Given the description of an element on the screen output the (x, y) to click on. 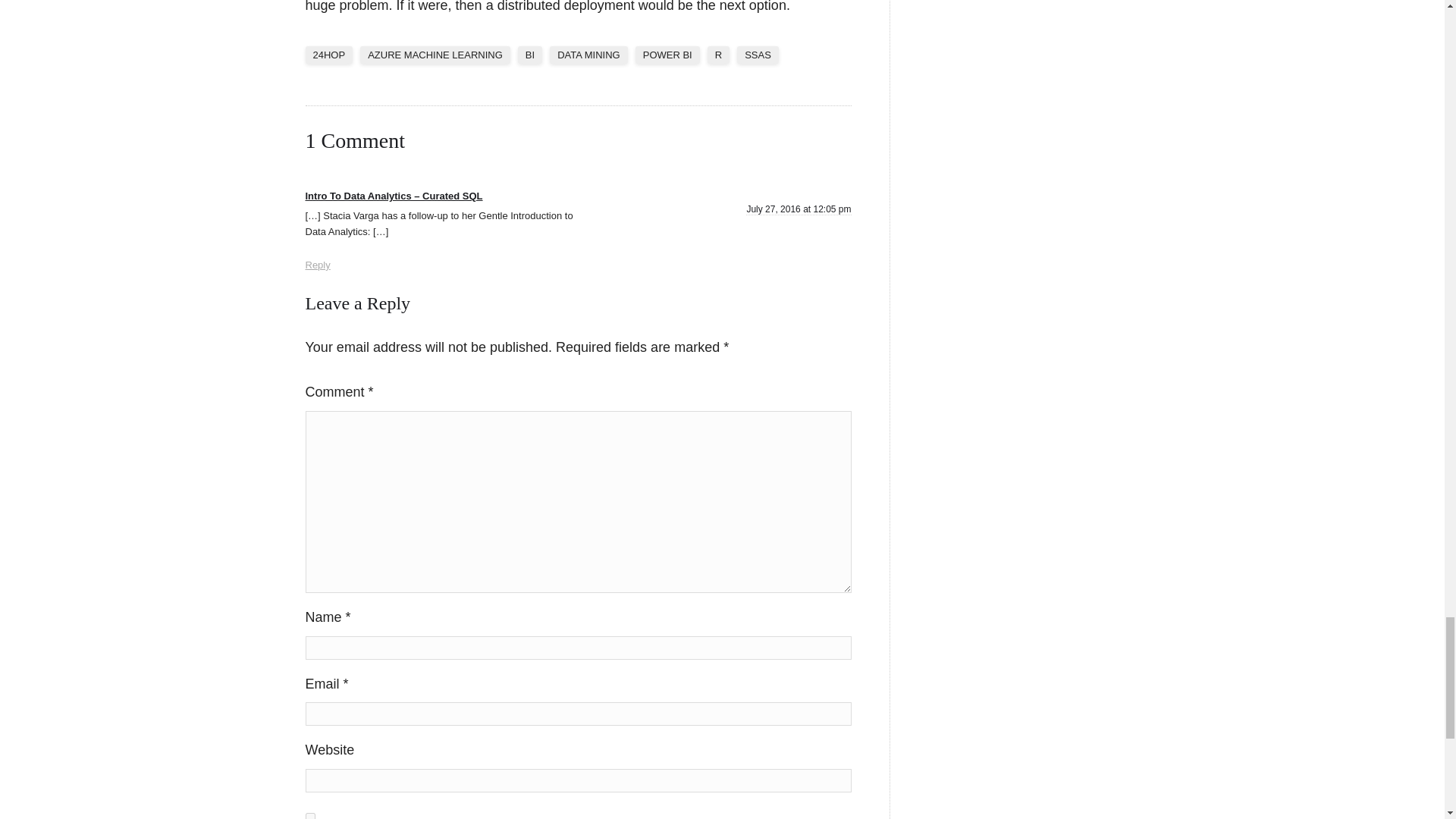
yes (309, 816)
